Given the description of an element on the screen output the (x, y) to click on. 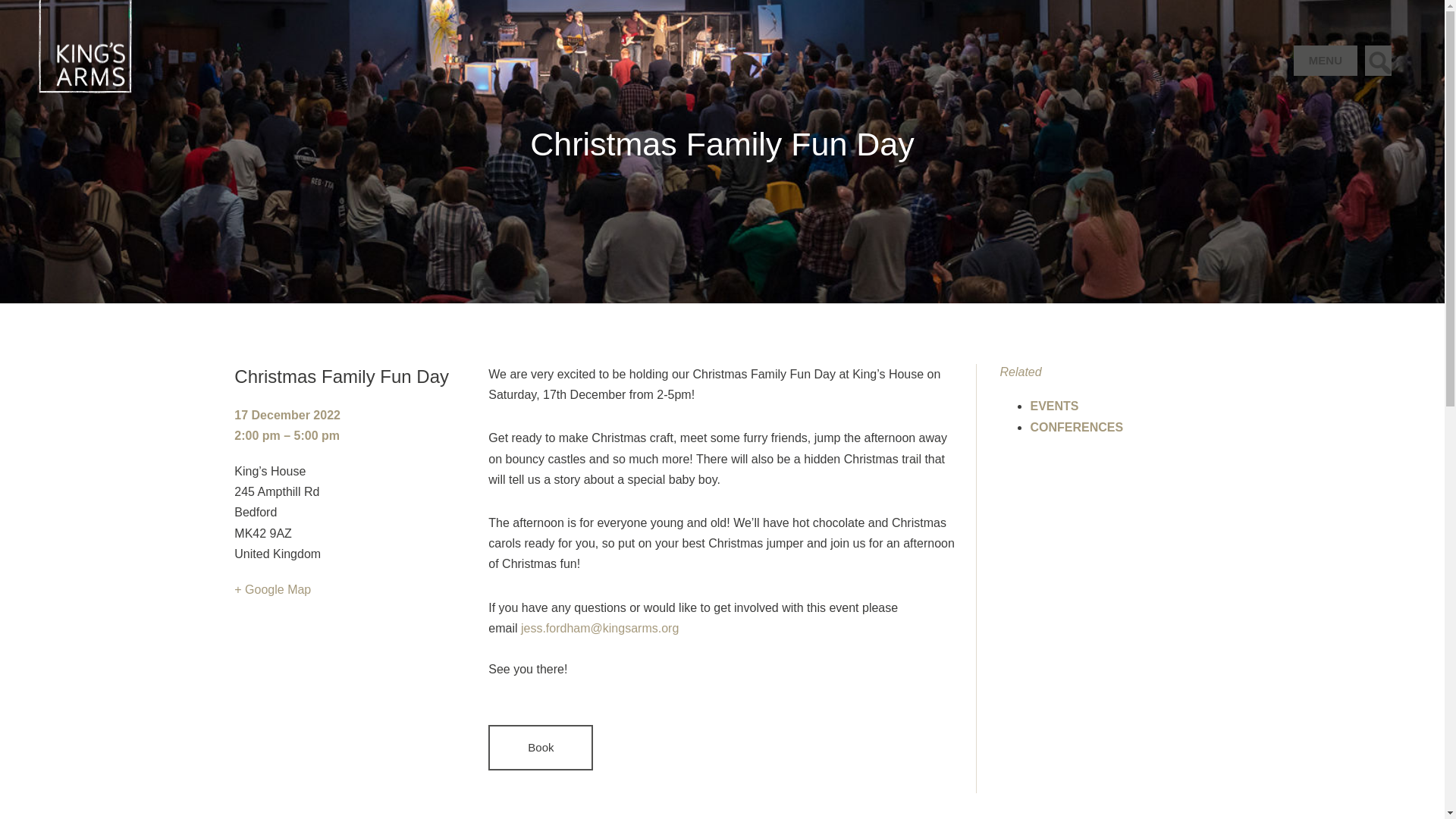
MENU (1325, 60)
Click to view a Google Map (272, 589)
Kings Arms Church Home (66, 10)
